Given the description of an element on the screen output the (x, y) to click on. 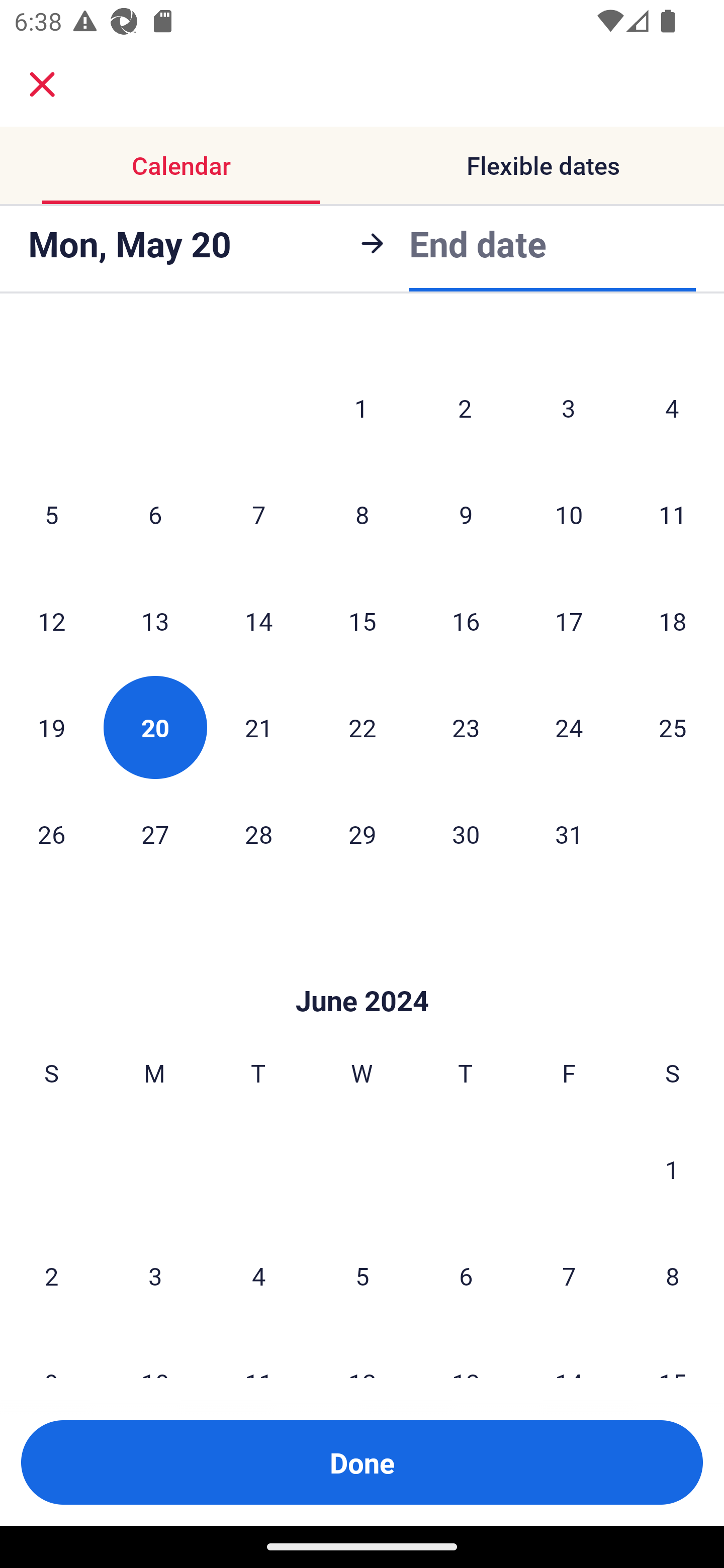
close. (42, 84)
Flexible dates (542, 164)
End date (477, 243)
1 Wednesday, May 1, 2024 (361, 407)
2 Thursday, May 2, 2024 (464, 407)
3 Friday, May 3, 2024 (568, 407)
4 Saturday, May 4, 2024 (672, 407)
5 Sunday, May 5, 2024 (51, 514)
6 Monday, May 6, 2024 (155, 514)
7 Tuesday, May 7, 2024 (258, 514)
8 Wednesday, May 8, 2024 (362, 514)
9 Thursday, May 9, 2024 (465, 514)
10 Friday, May 10, 2024 (569, 514)
11 Saturday, May 11, 2024 (672, 514)
12 Sunday, May 12, 2024 (51, 620)
13 Monday, May 13, 2024 (155, 620)
14 Tuesday, May 14, 2024 (258, 620)
15 Wednesday, May 15, 2024 (362, 620)
16 Thursday, May 16, 2024 (465, 620)
17 Friday, May 17, 2024 (569, 620)
18 Saturday, May 18, 2024 (672, 620)
19 Sunday, May 19, 2024 (51, 727)
21 Tuesday, May 21, 2024 (258, 727)
22 Wednesday, May 22, 2024 (362, 727)
23 Thursday, May 23, 2024 (465, 727)
24 Friday, May 24, 2024 (569, 727)
25 Saturday, May 25, 2024 (672, 727)
26 Sunday, May 26, 2024 (51, 833)
27 Monday, May 27, 2024 (155, 833)
28 Tuesday, May 28, 2024 (258, 833)
29 Wednesday, May 29, 2024 (362, 833)
30 Thursday, May 30, 2024 (465, 833)
31 Friday, May 31, 2024 (569, 833)
Skip to Done (362, 970)
1 Saturday, June 1, 2024 (672, 1169)
2 Sunday, June 2, 2024 (51, 1275)
3 Monday, June 3, 2024 (155, 1275)
4 Tuesday, June 4, 2024 (258, 1275)
5 Wednesday, June 5, 2024 (362, 1275)
6 Thursday, June 6, 2024 (465, 1275)
7 Friday, June 7, 2024 (569, 1275)
8 Saturday, June 8, 2024 (672, 1275)
Done (361, 1462)
